Given the description of an element on the screen output the (x, y) to click on. 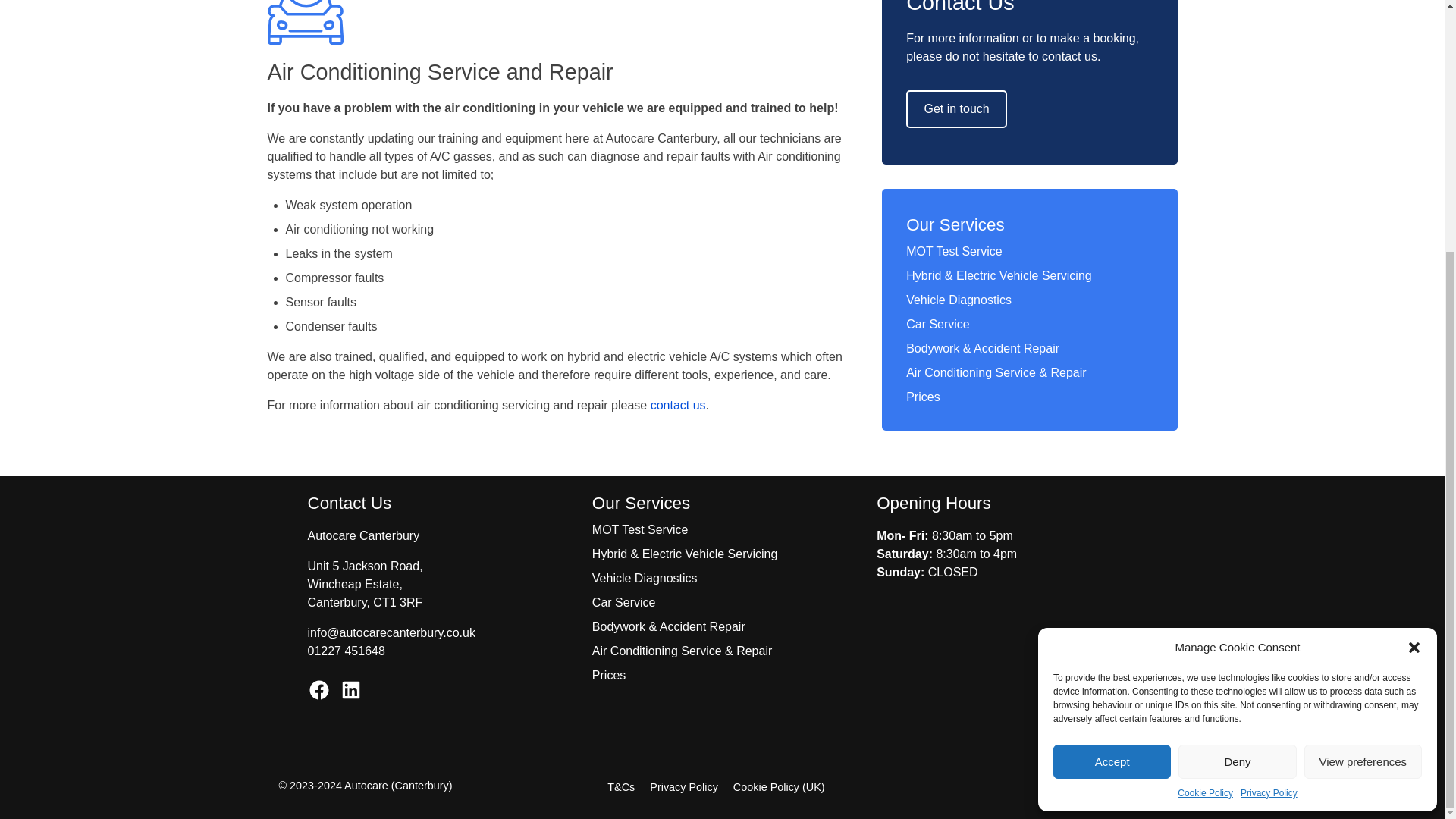
Deny (1236, 407)
Accept (1111, 407)
Cookie Policy (1205, 438)
Privacy Policy (1268, 438)
View preferences (1363, 407)
